Given the description of an element on the screen output the (x, y) to click on. 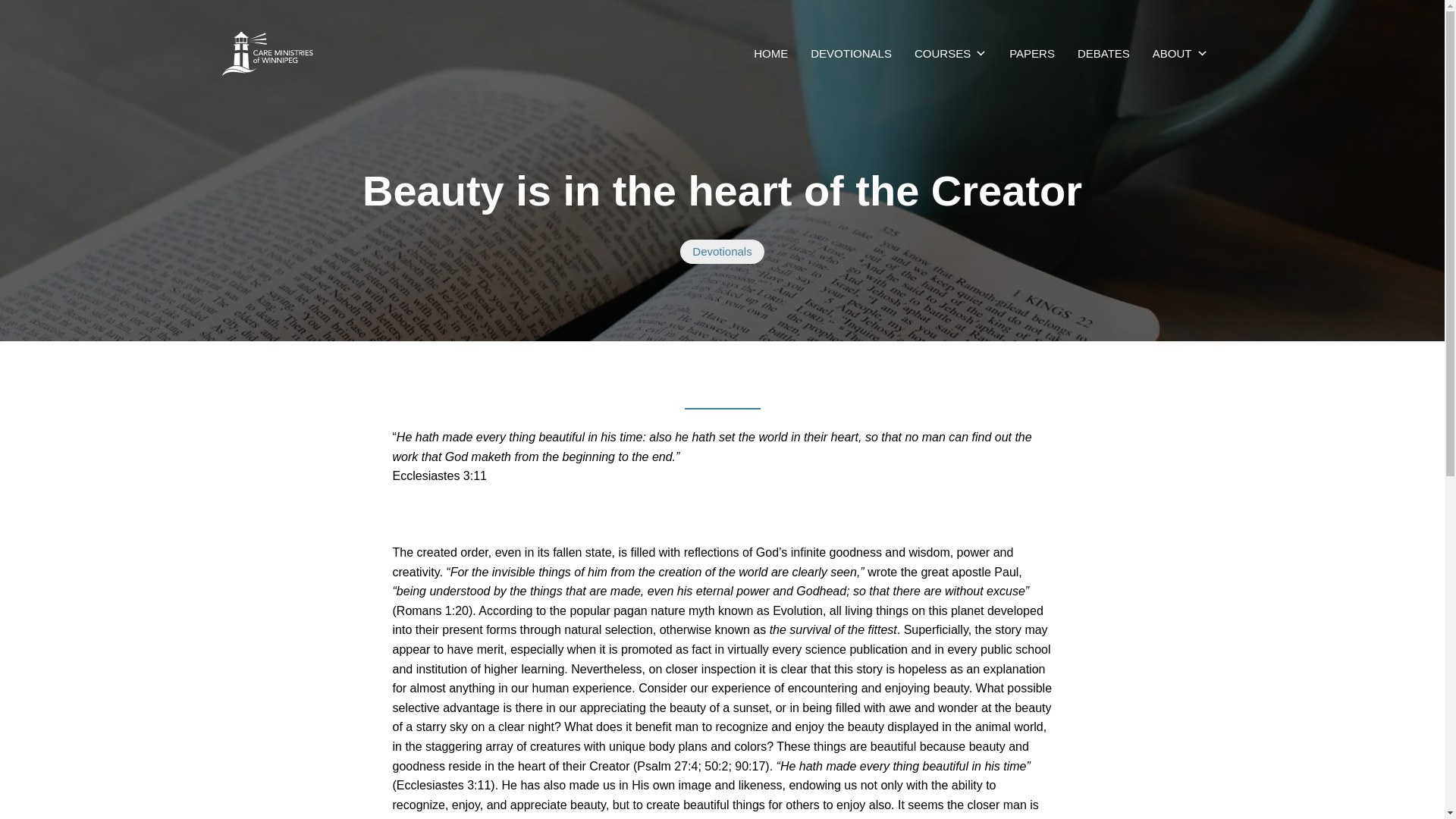
DEBATES (1103, 53)
Devotionals (720, 251)
HOME (769, 53)
DEVOTIONALS (851, 53)
COURSES (950, 53)
PAPERS (1031, 53)
ABOUT (1179, 53)
CARE Ministries of Winnipeg (769, 53)
